Given the description of an element on the screen output the (x, y) to click on. 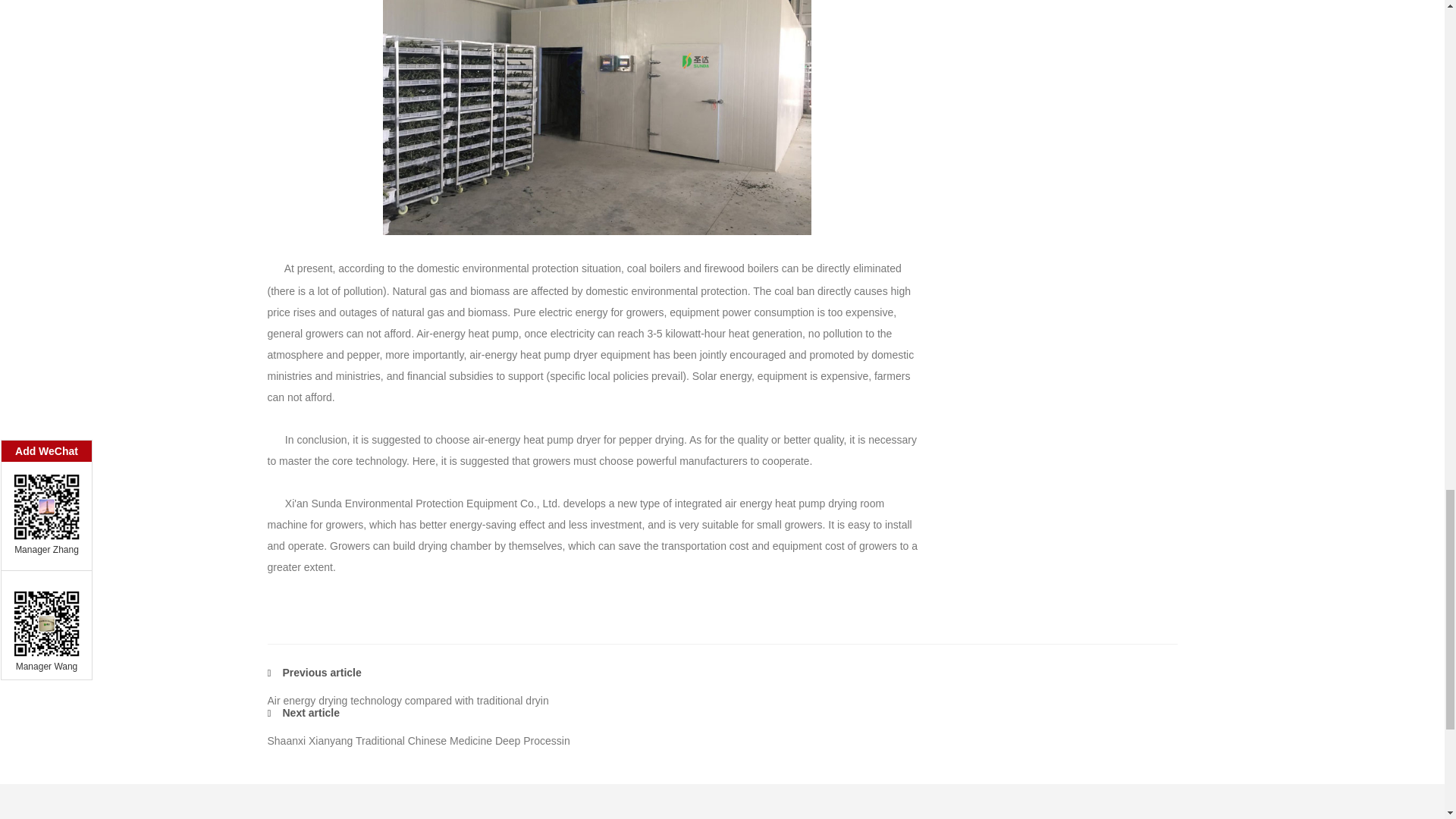
Shaanxi Xianyang Traditional Chinese Medicine Deep Processin (417, 740)
Air energy drying technology compared with traditional dryin (407, 700)
